Given the description of an element on the screen output the (x, y) to click on. 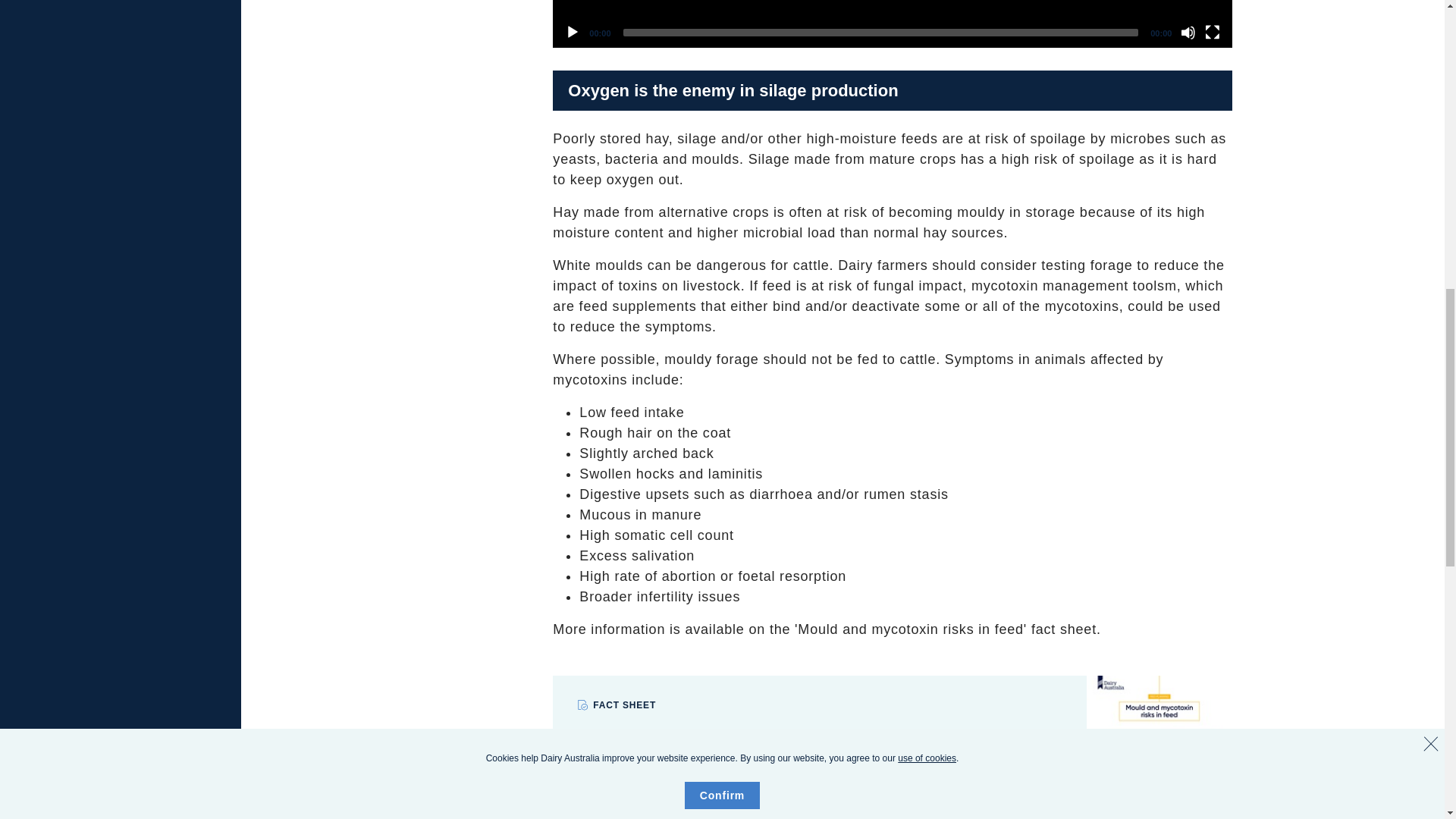
Mute (1187, 31)
Play (571, 31)
Mould and mycotoxin risks in feed (1106, 746)
Fullscreen (1212, 31)
Mould and mycotoxin risks in feed (692, 755)
